Given the description of an element on the screen output the (x, y) to click on. 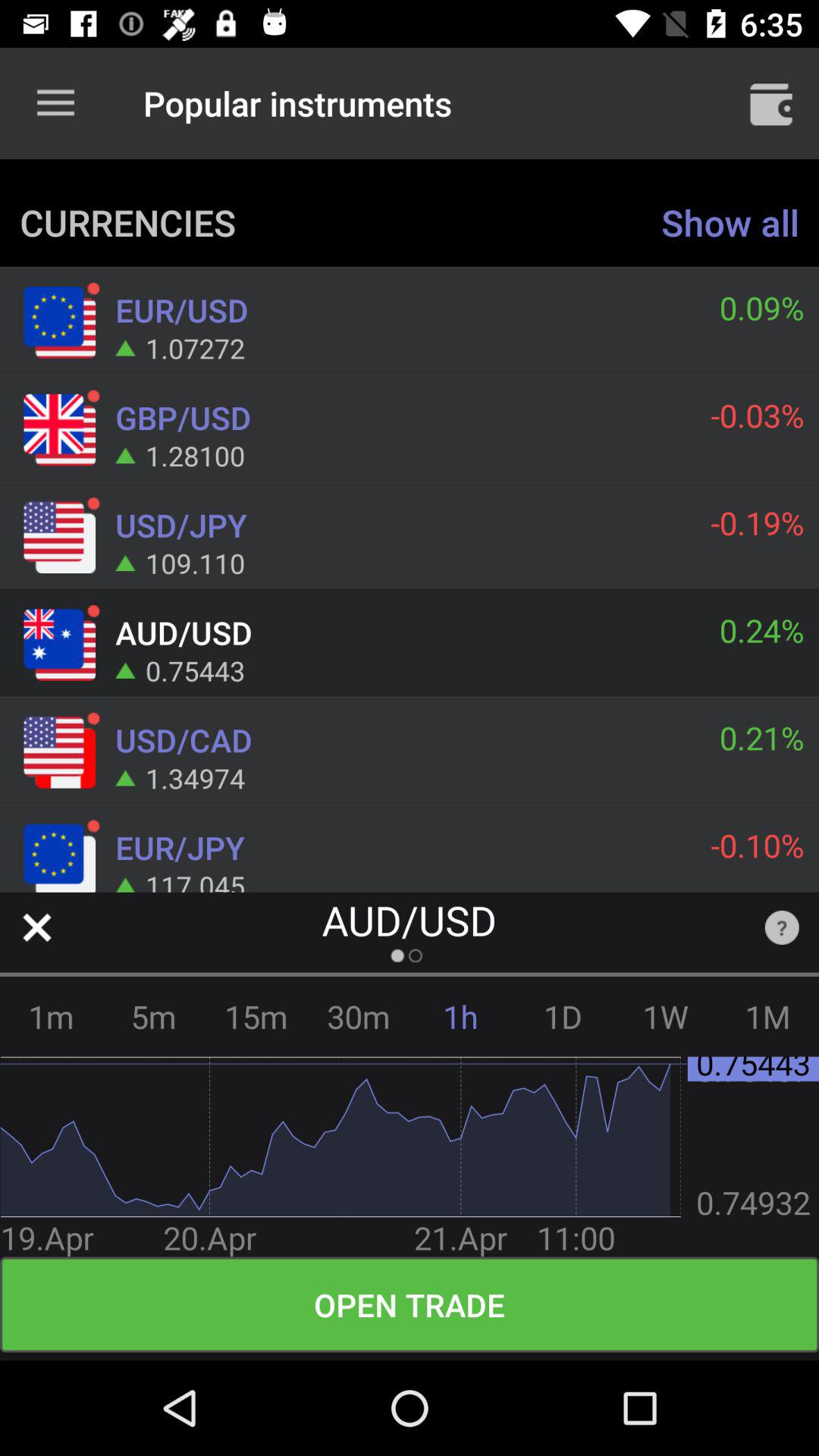
click the item next to the 5m (255, 1016)
